Given the description of an element on the screen output the (x, y) to click on. 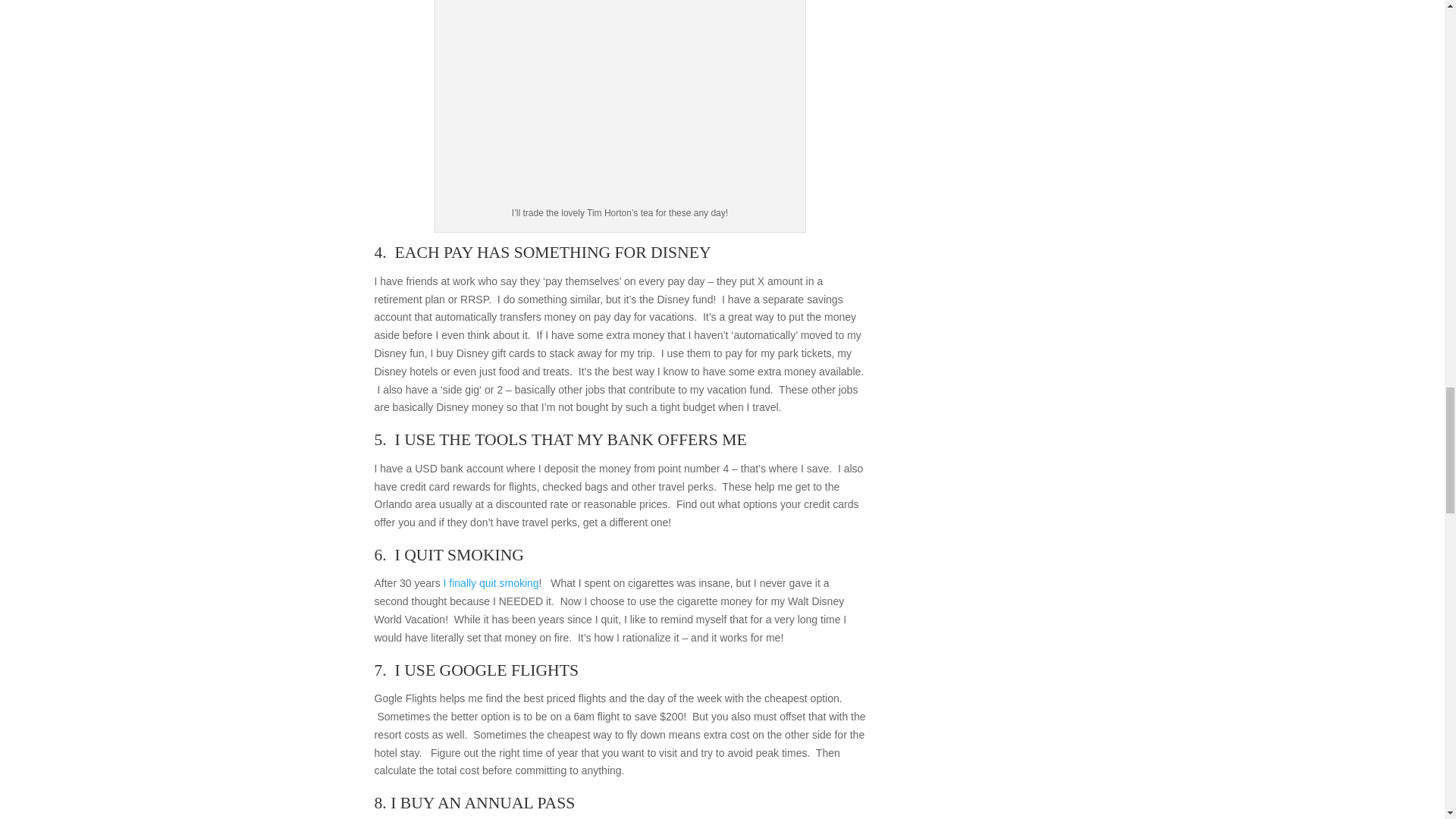
I finally quit smoking (491, 582)
